Given the description of an element on the screen output the (x, y) to click on. 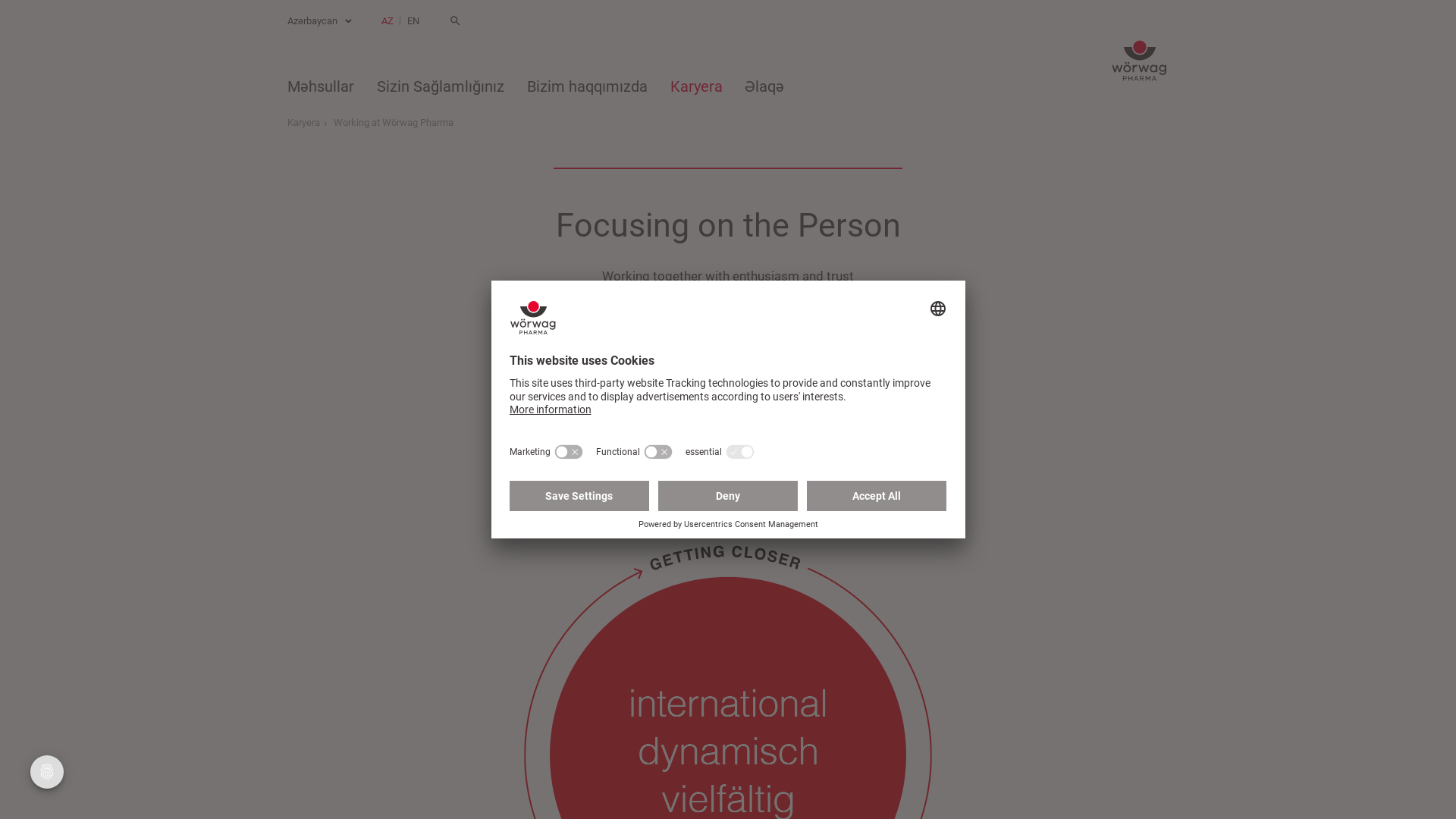
Stellenangebote Element type: text (727, 347)
Search Element type: hover (454, 20)
EN Element type: text (413, 20)
AZ Element type: text (387, 20)
  Element type: text (454, 20)
Karyera Element type: text (696, 88)
Karyera Element type: text (308, 122)
